Given the description of an element on the screen output the (x, y) to click on. 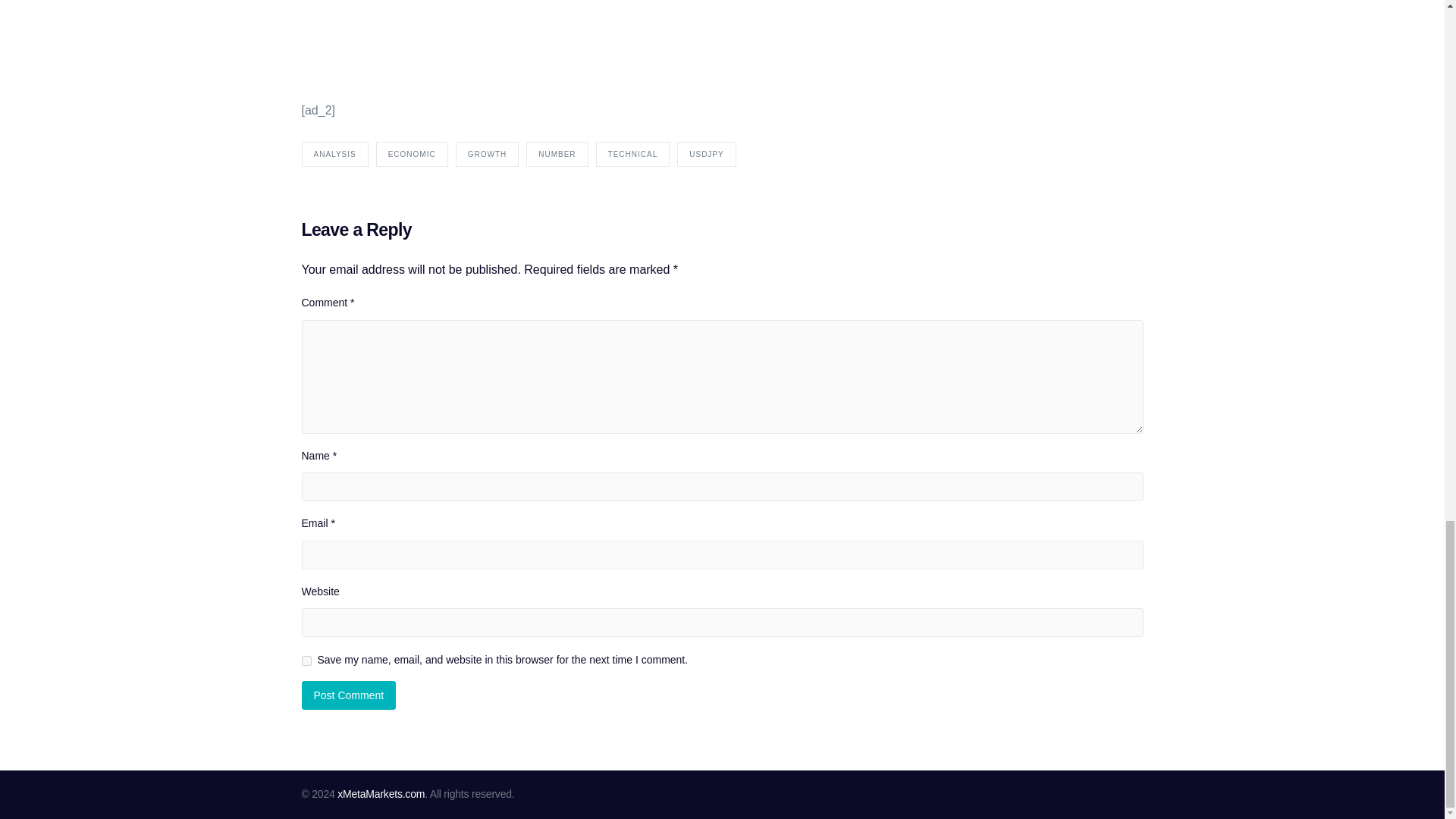
GROWTH (487, 154)
Post Comment (348, 695)
NUMBER (556, 154)
ECONOMIC (411, 154)
USDJPY (706, 154)
Post Comment (348, 695)
yes (306, 660)
USDJPY (661, 44)
ANALYSIS (334, 154)
xMetaMarkets.com (381, 793)
